Given the description of an element on the screen output the (x, y) to click on. 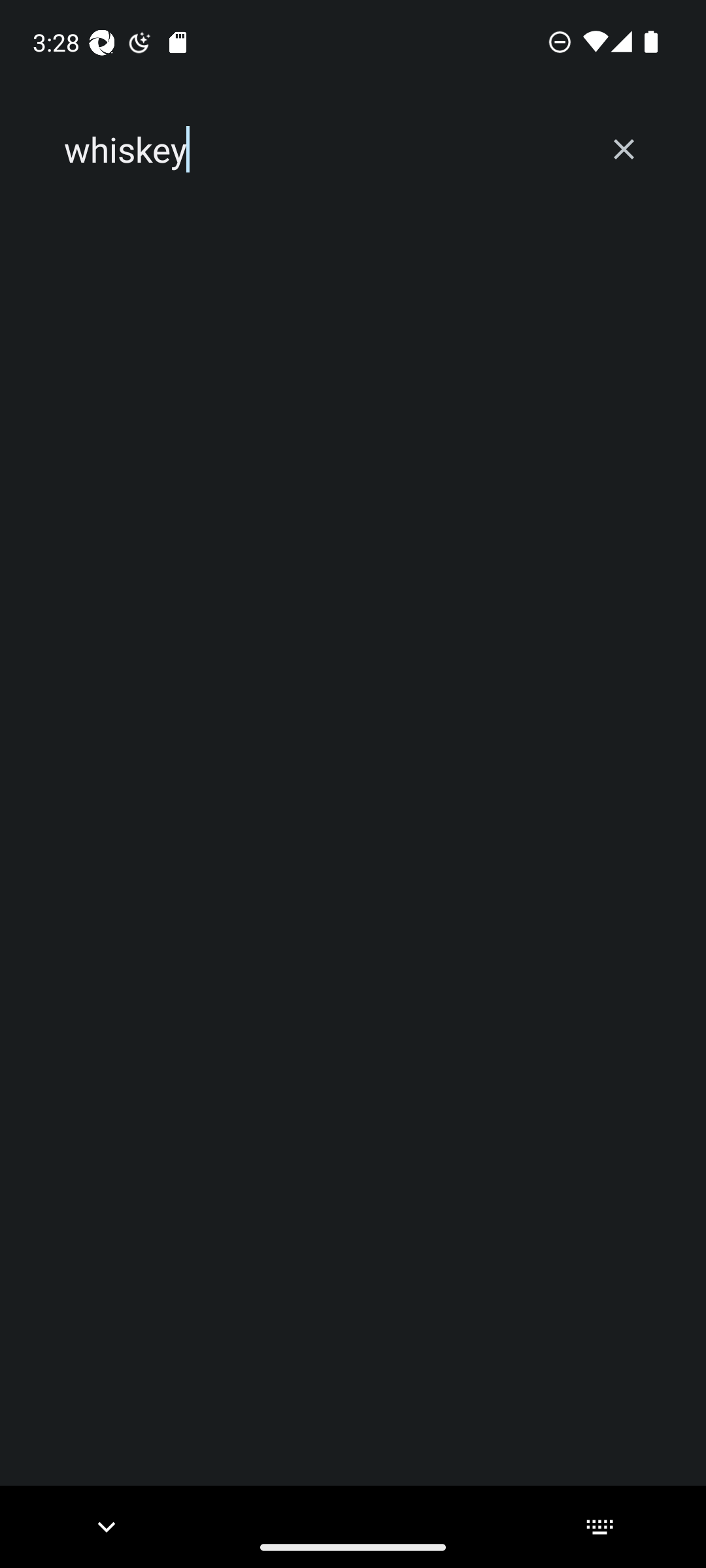
whiskey (321, 149)
Clear search box (623, 149)
